Given the description of an element on the screen output the (x, y) to click on. 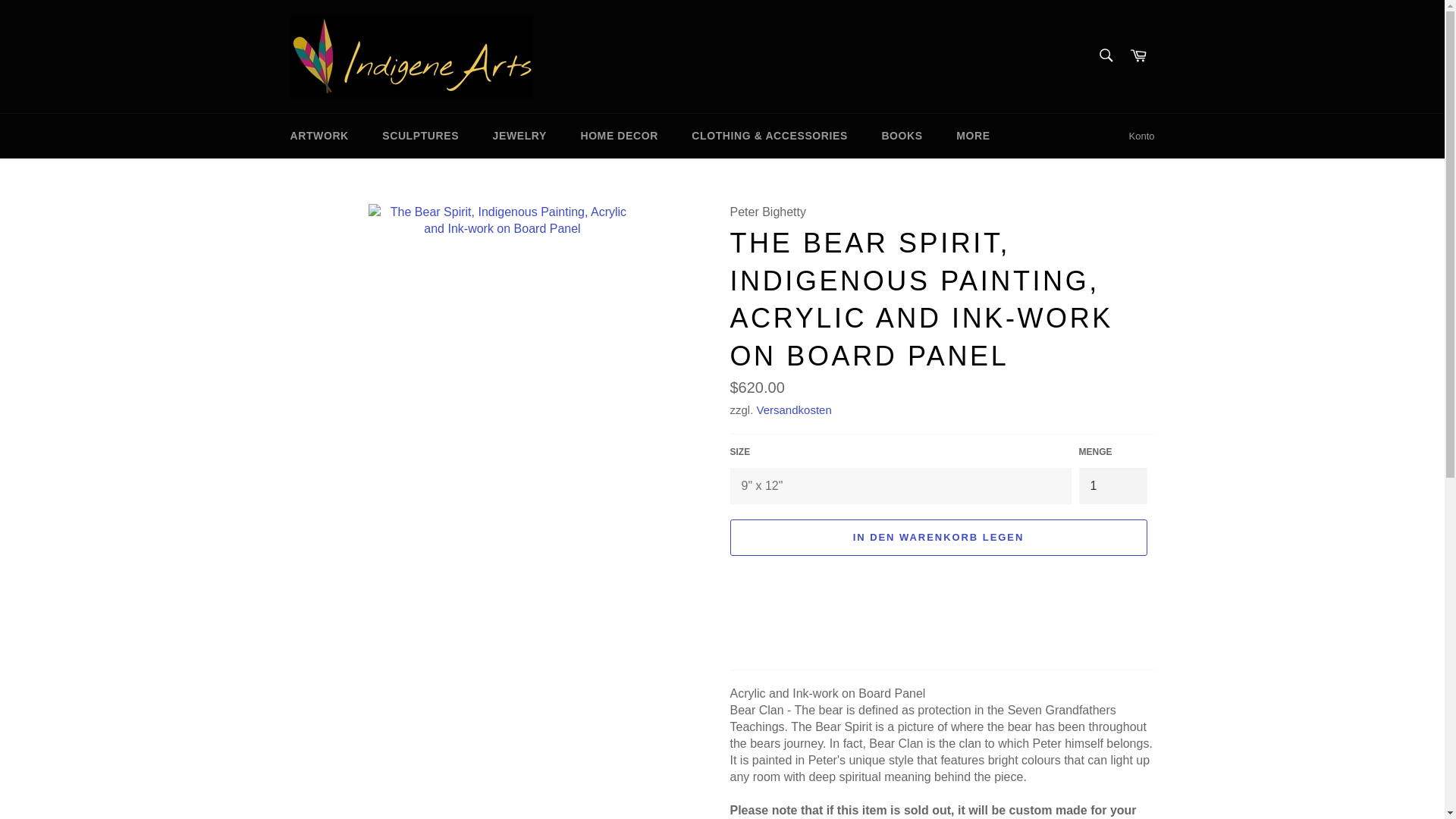
IN DEN WARENKORB LEGEN (938, 537)
Suchen (1104, 55)
ARTWORK (318, 135)
HOME DECOR (618, 135)
MORE (972, 135)
SCULPTURES (420, 135)
Warenkorb (1138, 56)
1 (1112, 485)
Versandkosten (794, 409)
JEWELRY (519, 135)
